Given the description of an element on the screen output the (x, y) to click on. 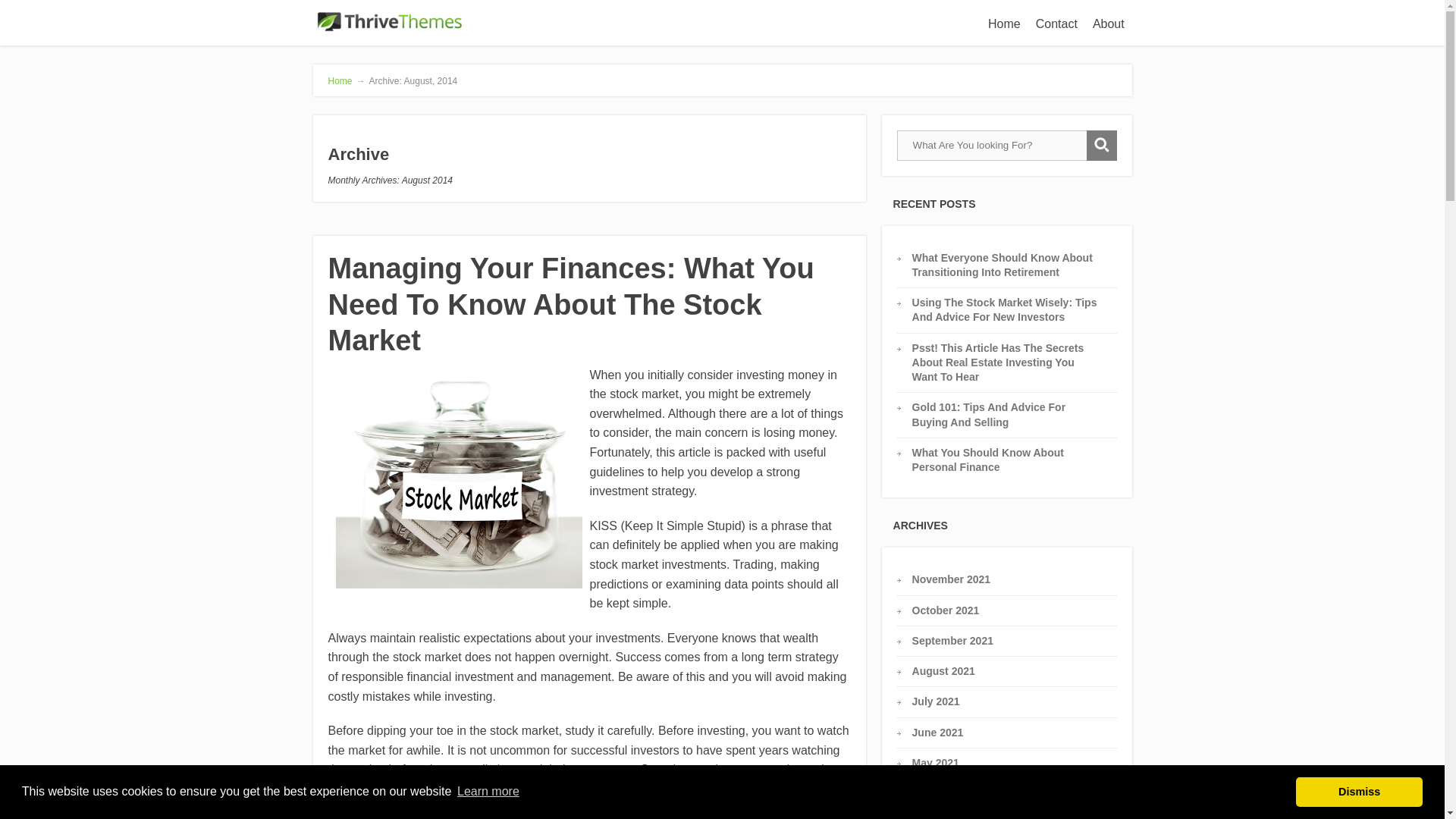
August 2021 (943, 671)
Home (1003, 23)
Contact (1055, 23)
What You Should Know About Personal Finance (988, 459)
January 2021 (945, 818)
September 2021 (952, 640)
July 2021 (935, 701)
